Given the description of an element on the screen output the (x, y) to click on. 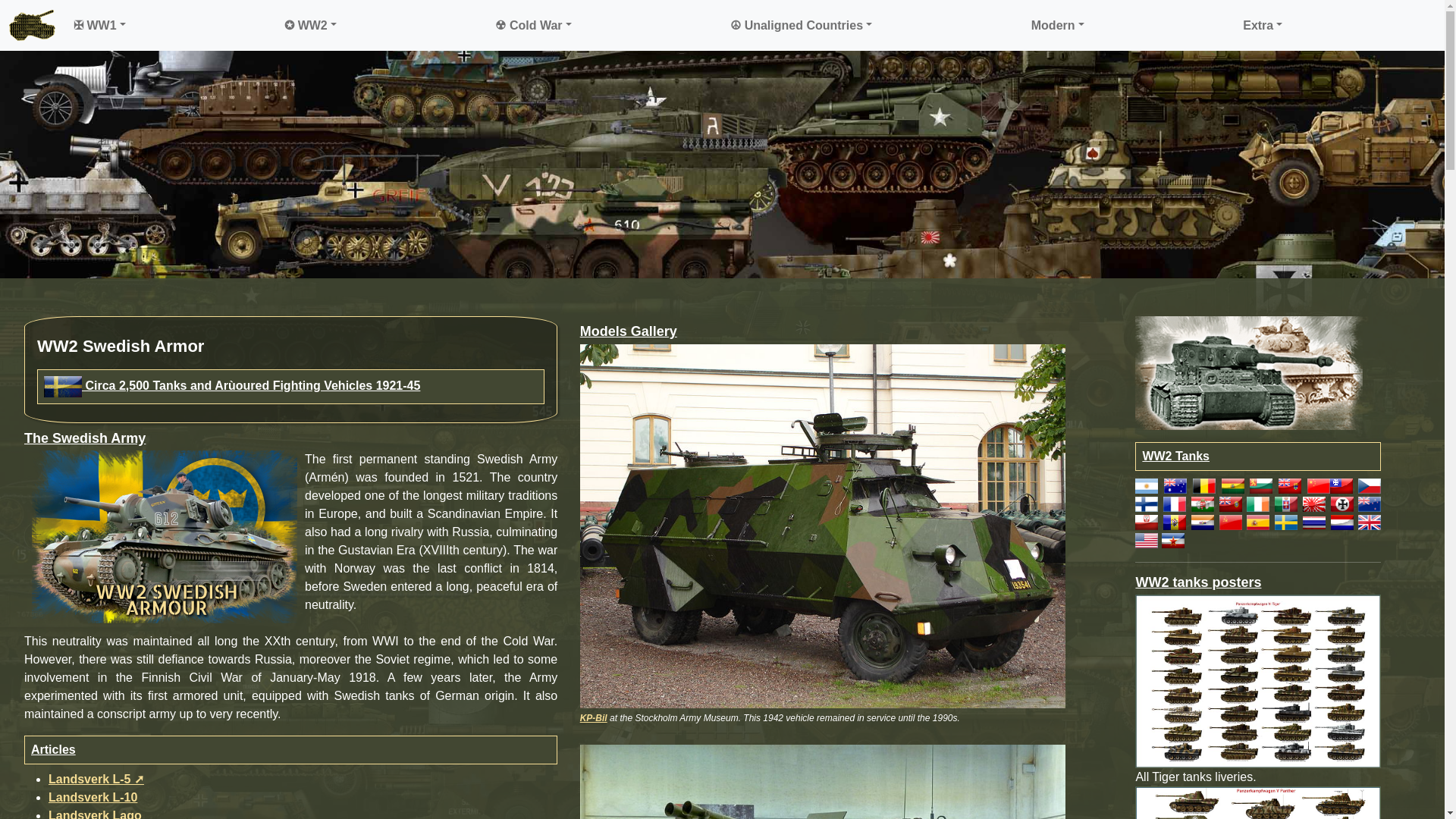
back home (31, 25)
